Given the description of an element on the screen output the (x, y) to click on. 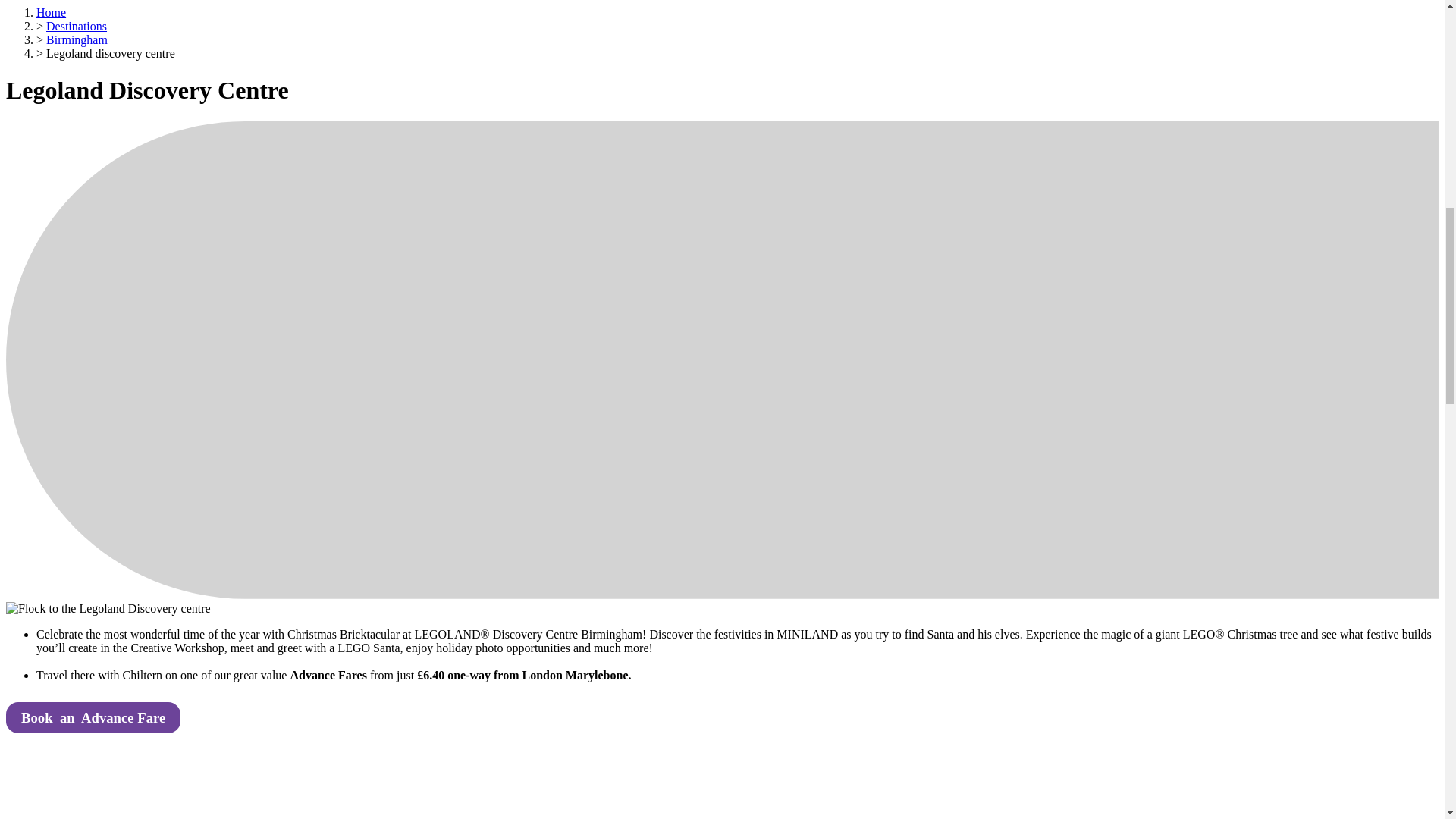
legoland discovery centre from birmingham moor street (118, 792)
